Given the description of an element on the screen output the (x, y) to click on. 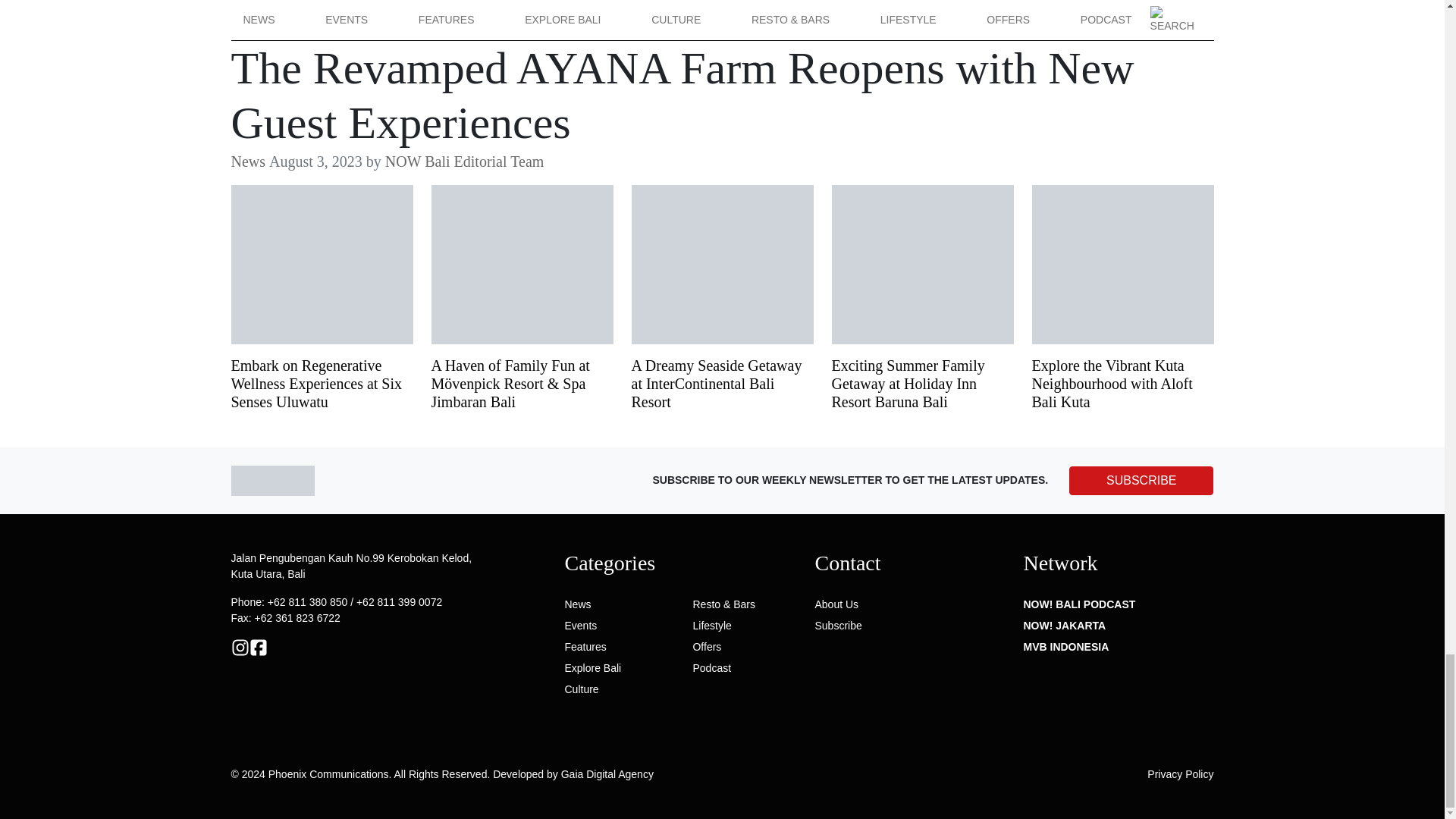
Instagraqm (239, 645)
